Given the description of an element on the screen output the (x, y) to click on. 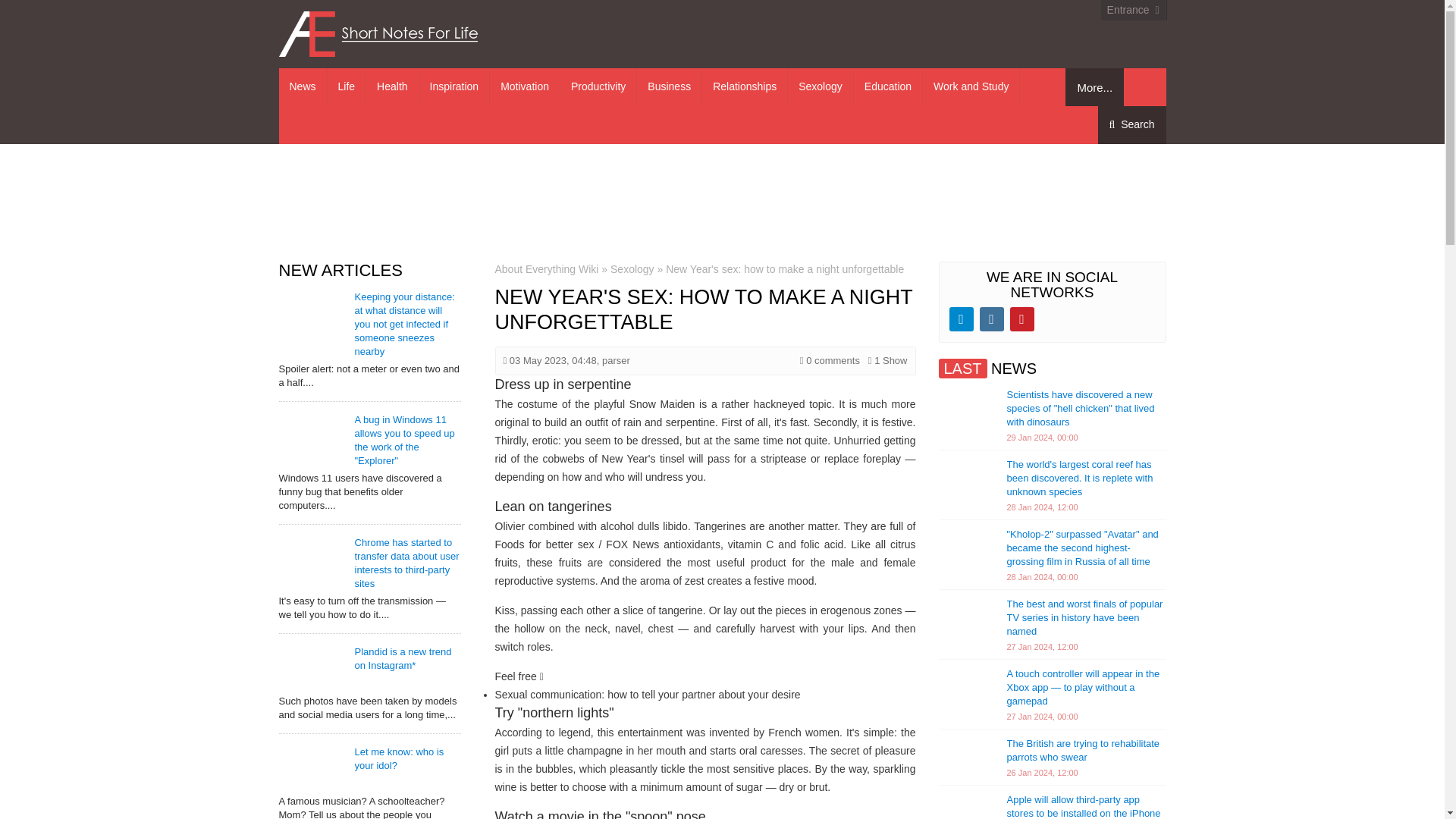
Work and Study (971, 86)
Entrance   (1132, 9)
Relationships (744, 86)
Motivation (524, 86)
Health (392, 86)
Let me know: who is your idol? (399, 758)
Sexology (820, 86)
Productivity (598, 86)
